Given the description of an element on the screen output the (x, y) to click on. 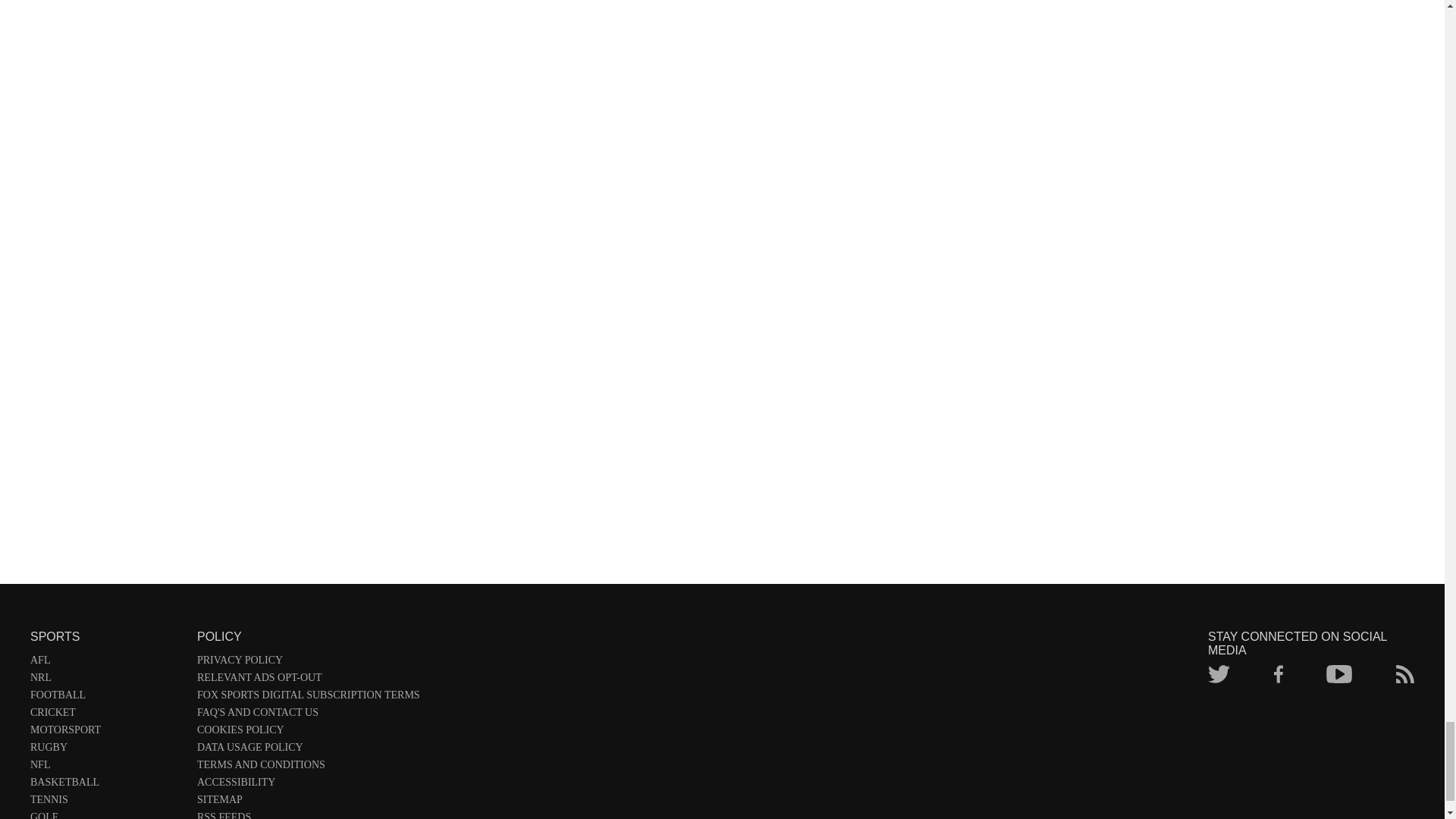
SITEMAP (308, 802)
AFL (106, 662)
RELEVANT ADS OPT-OUT (308, 680)
DATA USAGE POLICY (308, 750)
FAQ'S AND CONTACT US (308, 714)
TERMS AND CONDITIONS (308, 767)
NRL (106, 680)
FOX SPORTS DIGITAL SUBSCRIPTION TERMS (308, 697)
COOKIES POLICY (308, 732)
NFL (106, 767)
GOLF (106, 815)
RSS FEEDS (308, 815)
FOOTBALL (106, 697)
CRICKET (106, 714)
MOTORSPORT (106, 732)
